Given the description of an element on the screen output the (x, y) to click on. 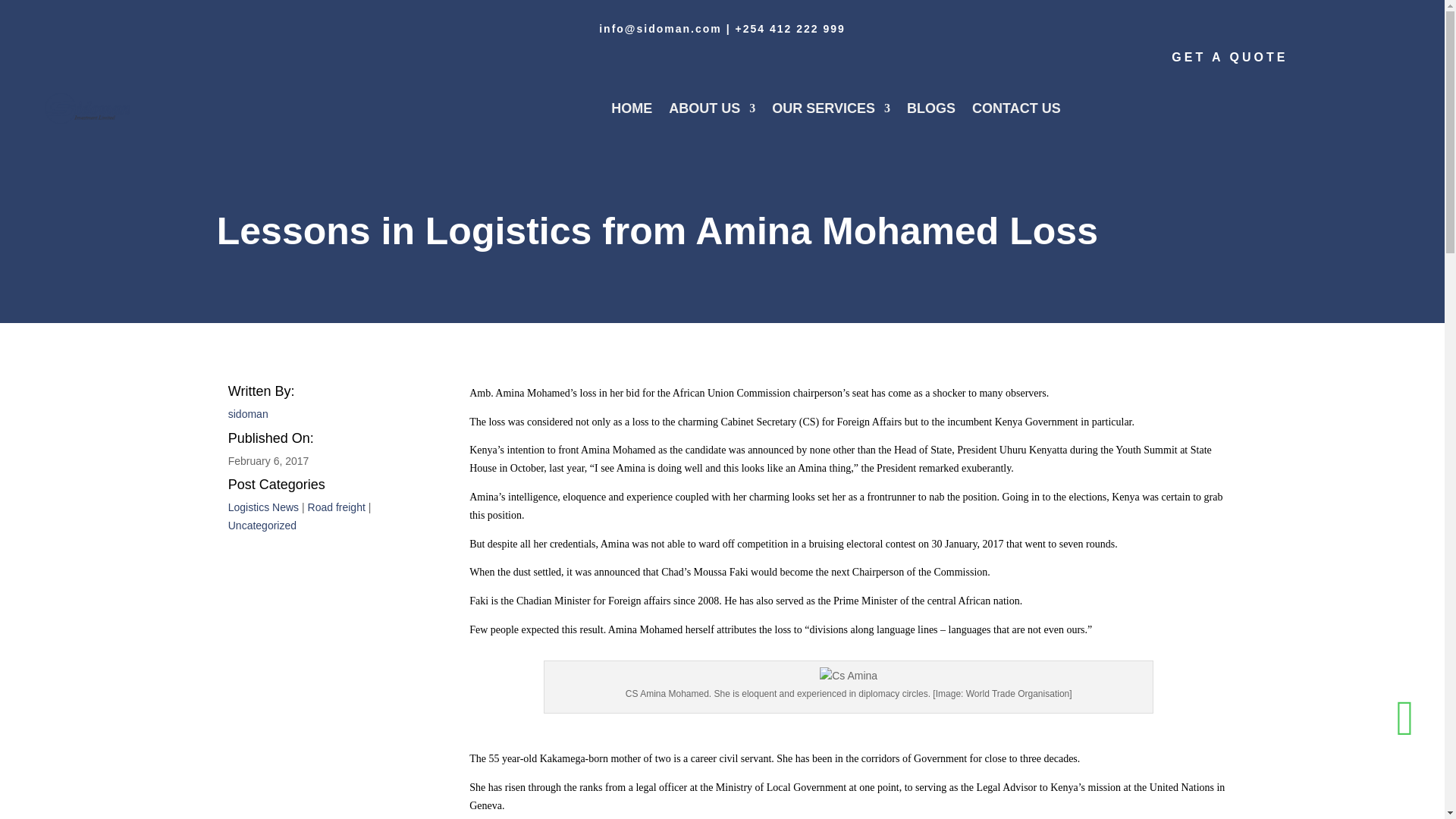
GET A QUOTE (1229, 56)
sidoman (247, 413)
ABOUT US (711, 108)
Uncategorized (262, 525)
Logistics News (263, 507)
CONTACT US (1016, 108)
OUR SERVICES (830, 108)
Road freight (336, 507)
